Given the description of an element on the screen output the (x, y) to click on. 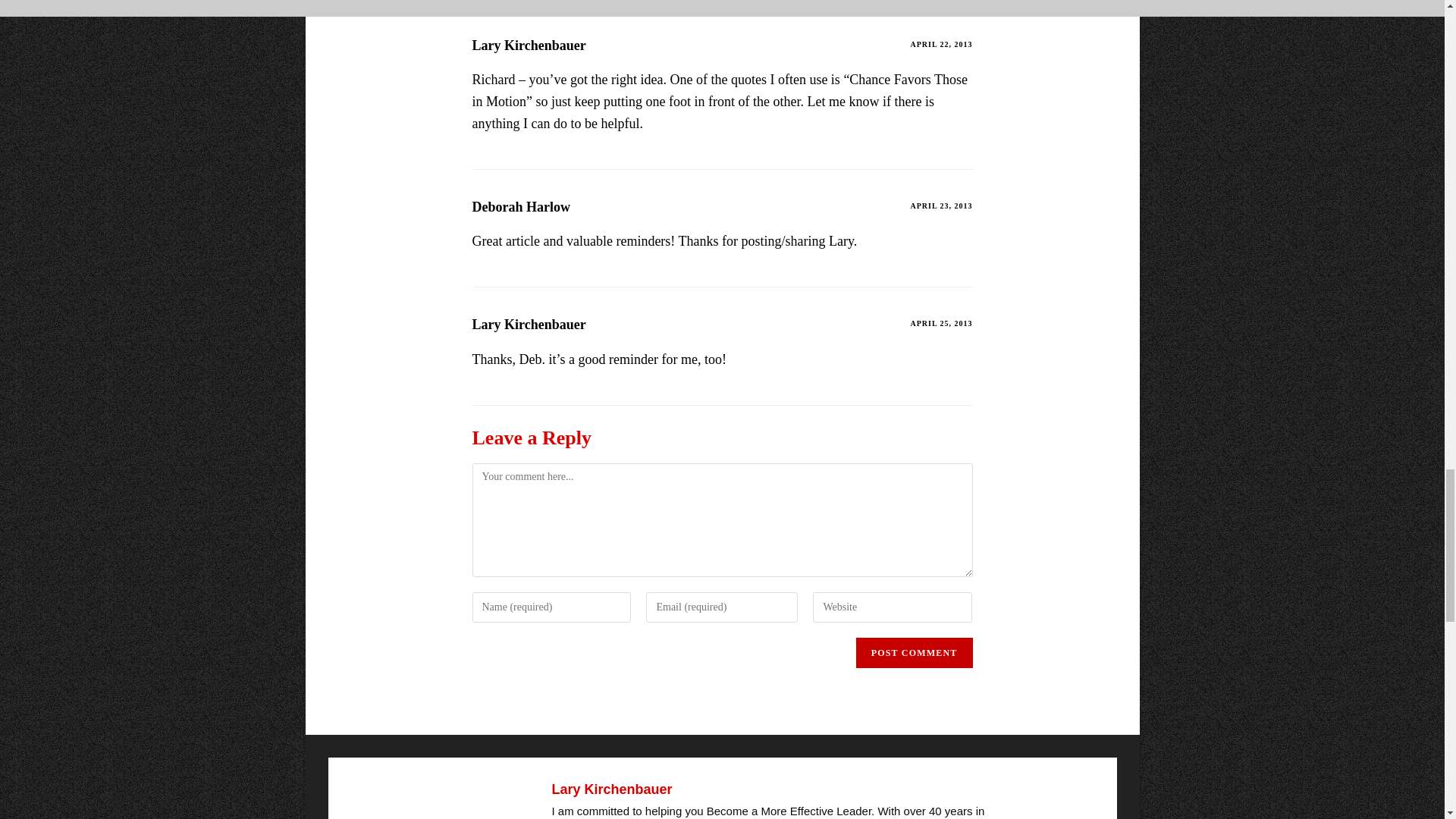
Post Comment (914, 653)
